Given the description of an element on the screen output the (x, y) to click on. 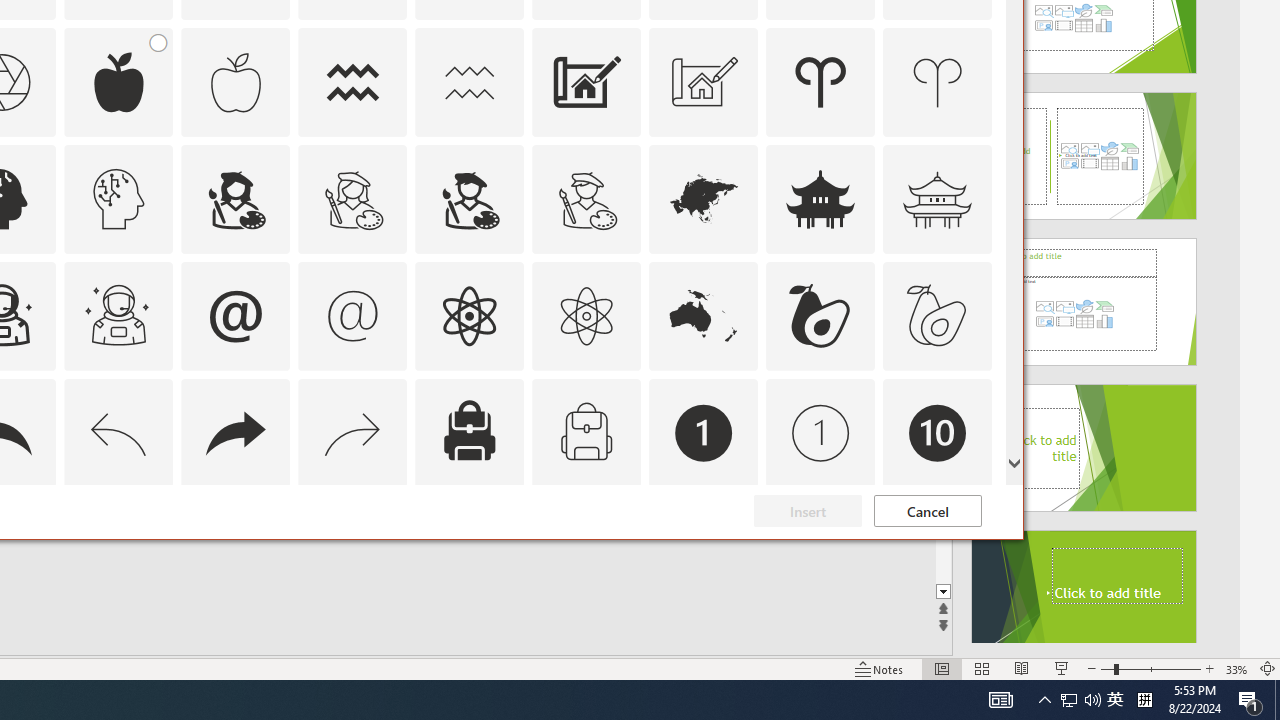
AutomationID: Icons_AsianTemple_M (938, 198)
AutomationID: Icons (937, 550)
AutomationID: Icons_Aries_M (938, 82)
AutomationID: Icons_Architecture (586, 82)
AutomationID: Icons_Badge1 (703, 432)
AutomationID: Icons_AsianTemple (820, 198)
AutomationID: Icons_Backpack_M (586, 432)
AutomationID: Icons_Atom (469, 316)
